Given the description of an element on the screen output the (x, y) to click on. 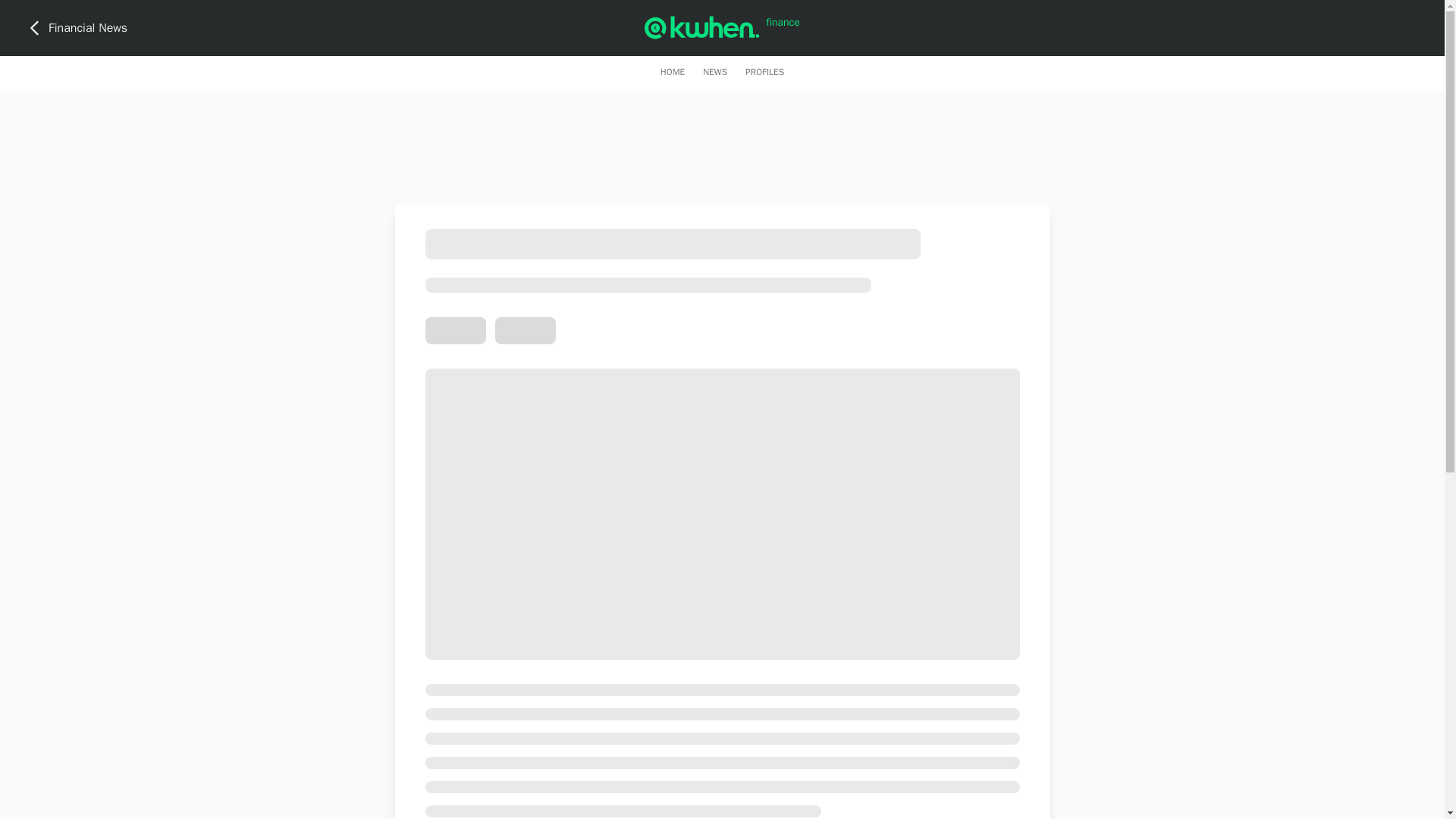
NEWS (714, 71)
Financial News (76, 27)
PROFILES (764, 71)
HOME (672, 71)
